Given the description of an element on the screen output the (x, y) to click on. 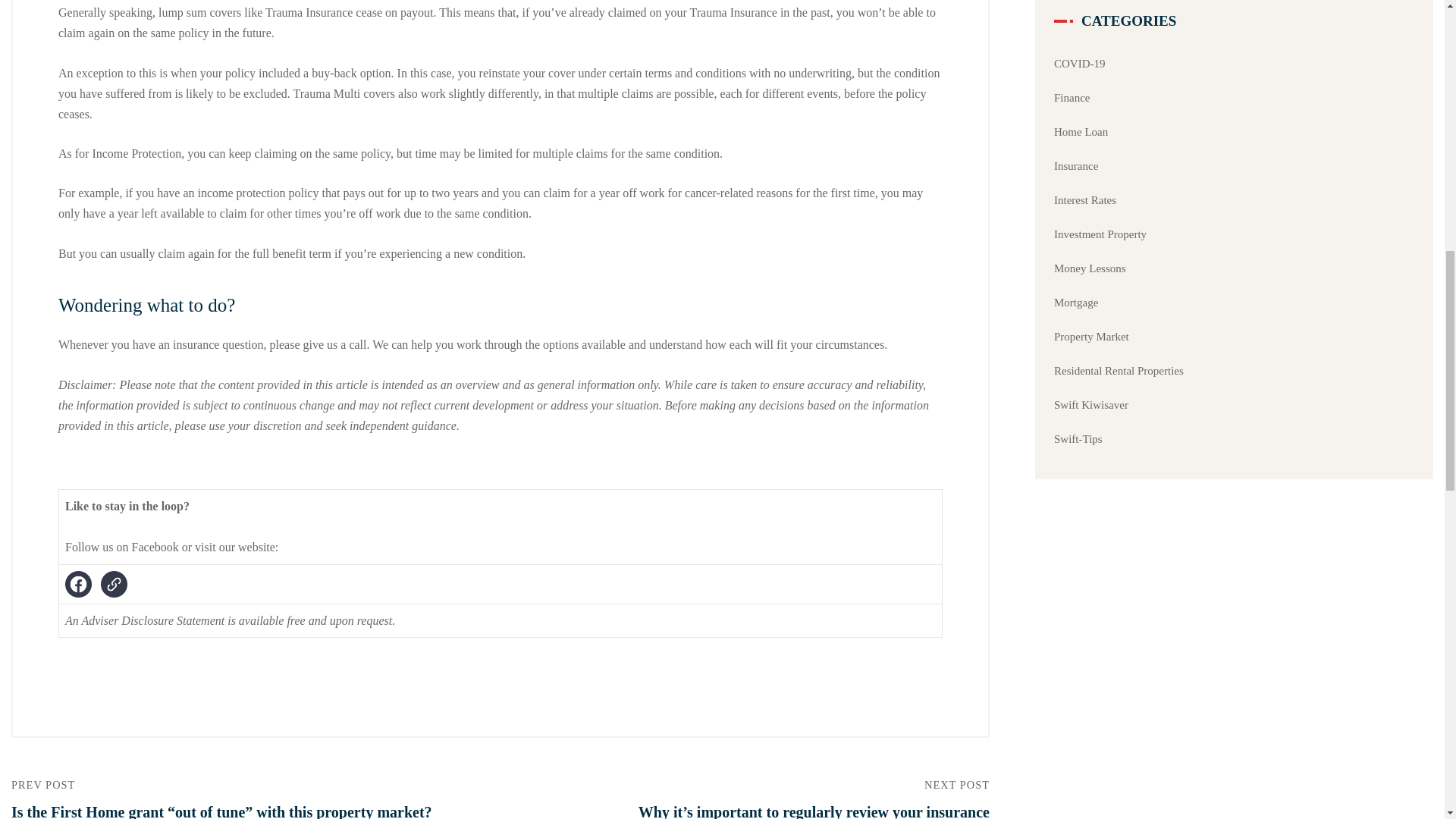
COVID-19 (1079, 63)
Insurance (1075, 165)
Investment Property (1100, 234)
Interest Rates (1085, 200)
Home Loan (1081, 132)
Finance (1071, 97)
